Given the description of an element on the screen output the (x, y) to click on. 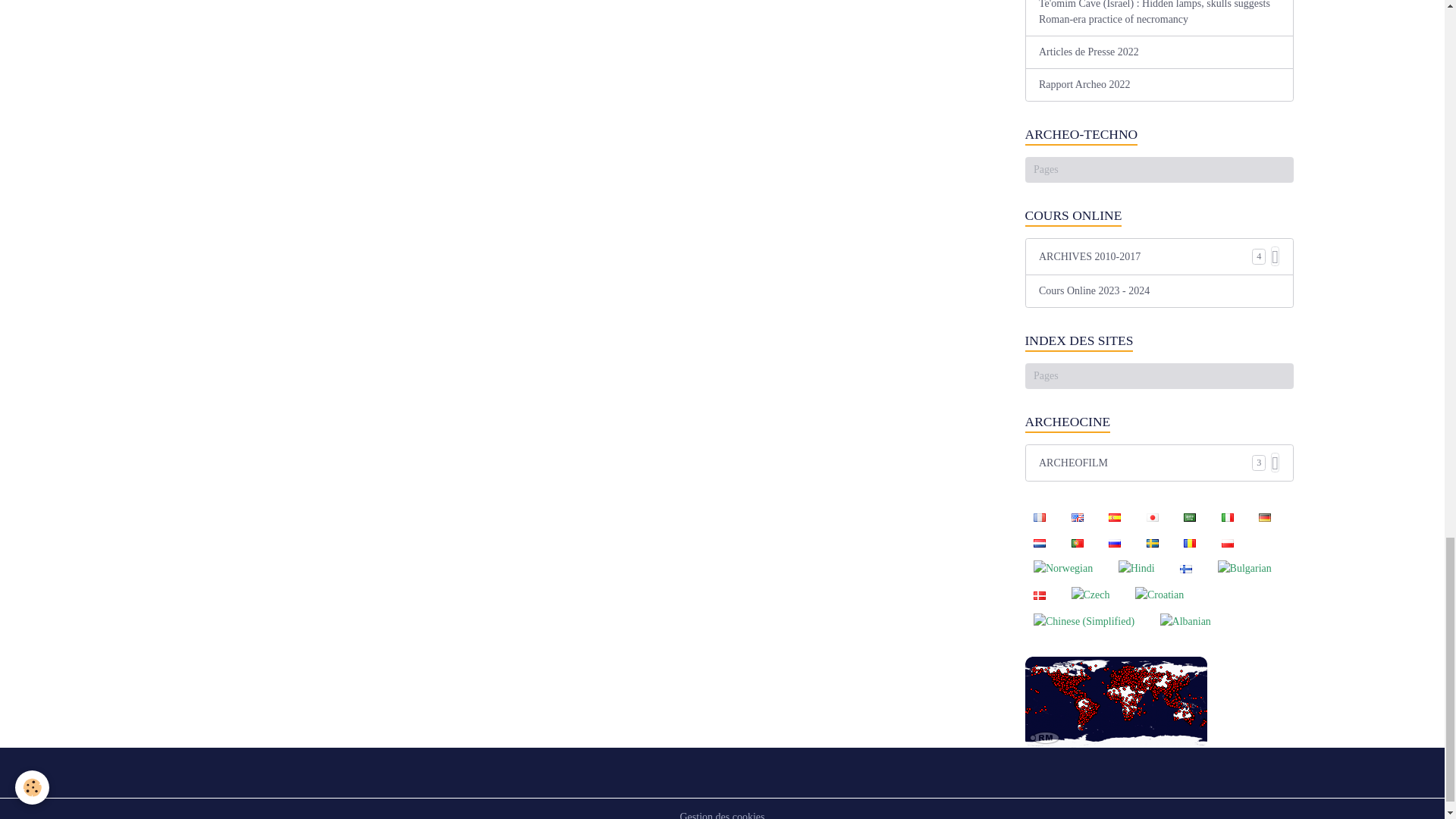
Hindi (1136, 568)
Deutsch (1264, 516)
Swedish (1152, 542)
Nederlands (1039, 542)
Bulgarian (1243, 568)
Italiano (1226, 516)
Arabic (1189, 516)
Russian (1114, 542)
Norwegian (1063, 568)
Portuguesa (1077, 542)
Danish (1039, 594)
Czech (1090, 594)
Polish (1226, 542)
Finnish (1186, 567)
Romanian (1189, 542)
